Given the description of an element on the screen output the (x, y) to click on. 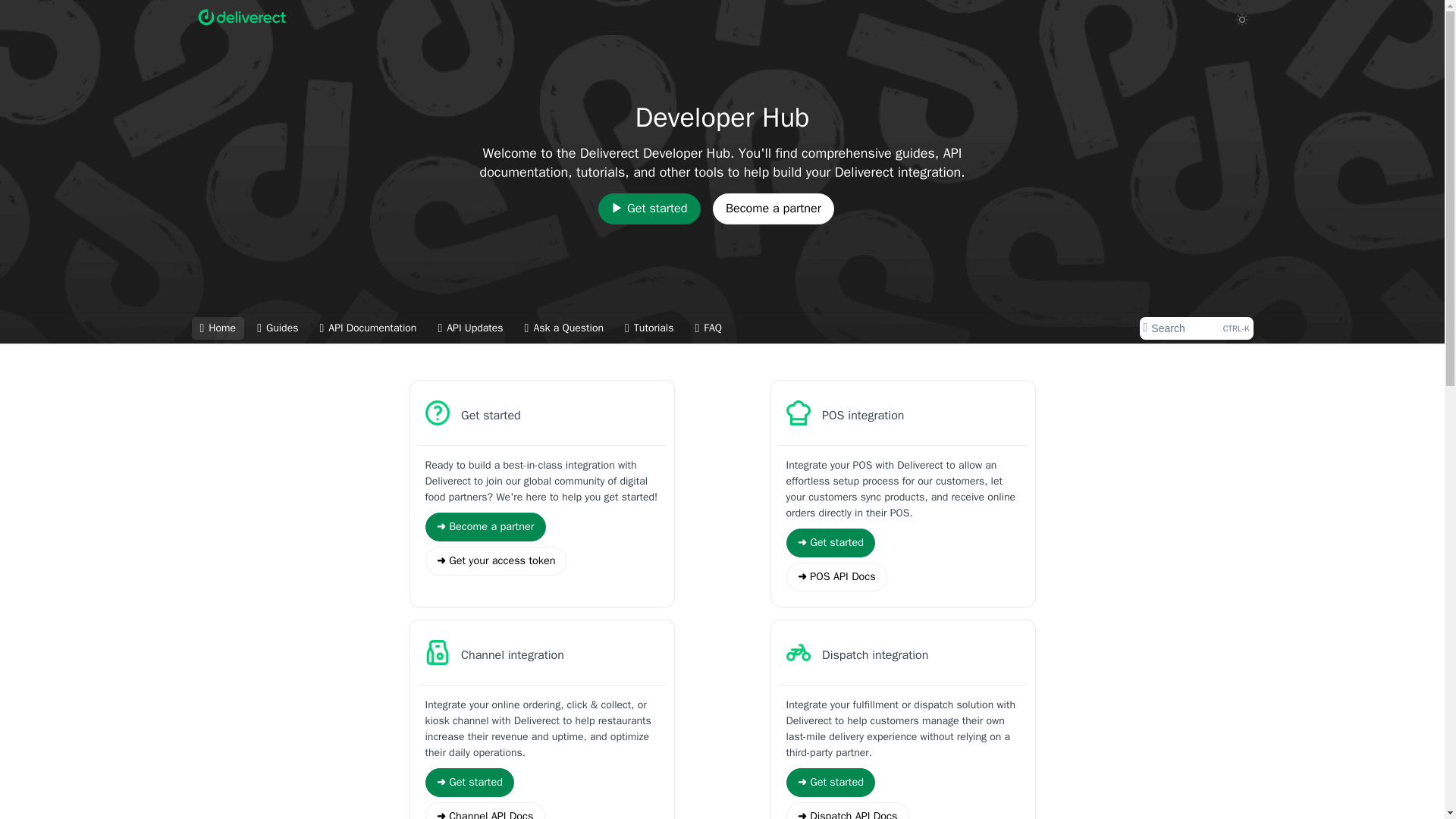
Tutorials (648, 327)
Guides (276, 327)
API Updates (470, 327)
Become a partner (773, 208)
Ask a Question (563, 327)
Home (217, 327)
FAQ (1195, 327)
API Documentation (707, 327)
